Given the description of an element on the screen output the (x, y) to click on. 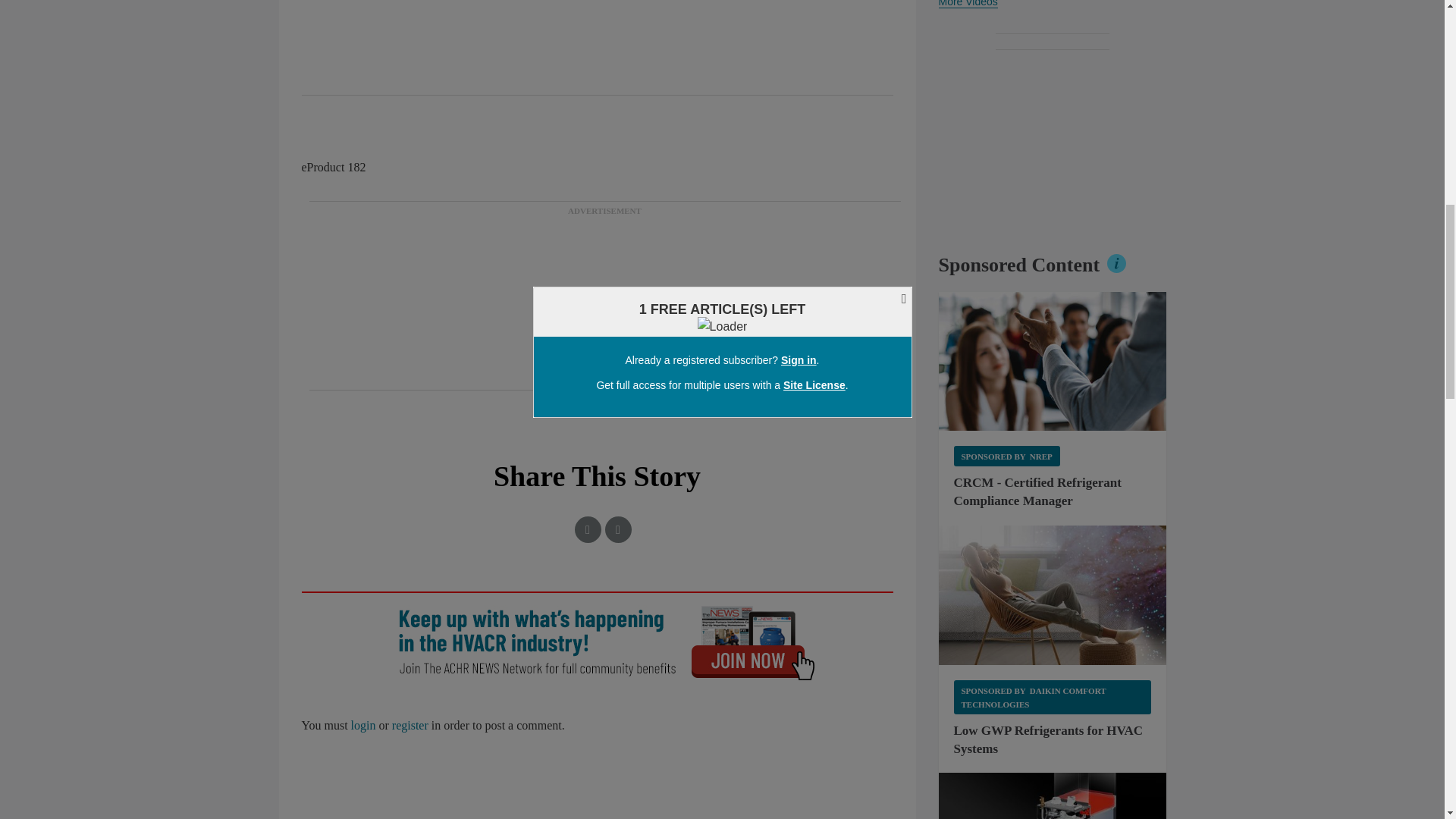
Daiken Refrigerants (1052, 595)
Hydronic Forced Air Furnace Diagram (1052, 796)
Sponsored by Daikin Comfort Technologies (1052, 697)
Sponsored by NREP (1006, 455)
CRCM Certified Refrigerant Compliance Manager (1052, 361)
